Given the description of an element on the screen output the (x, y) to click on. 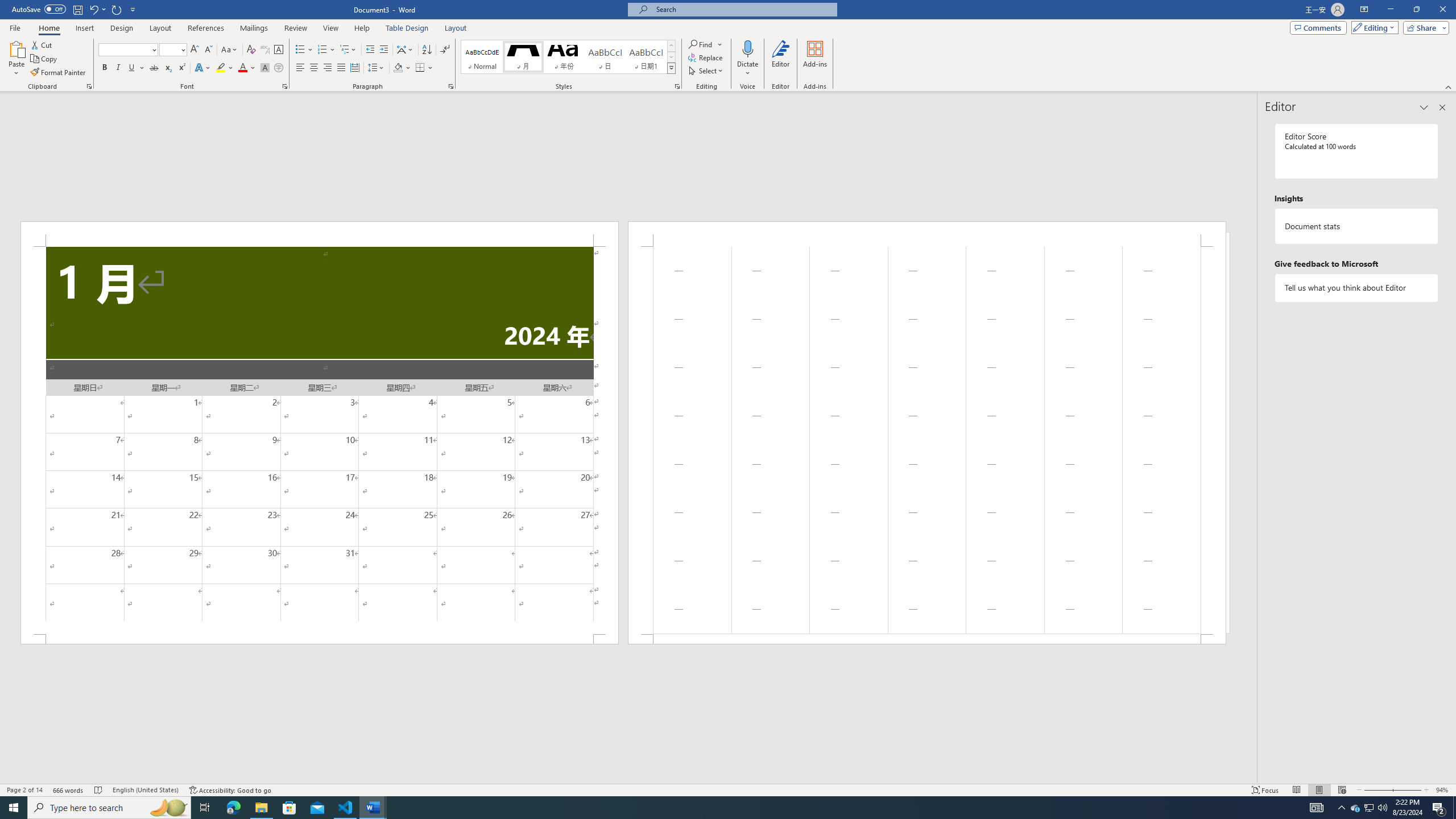
Document statistics (1356, 226)
